Given the description of an element on the screen output the (x, y) to click on. 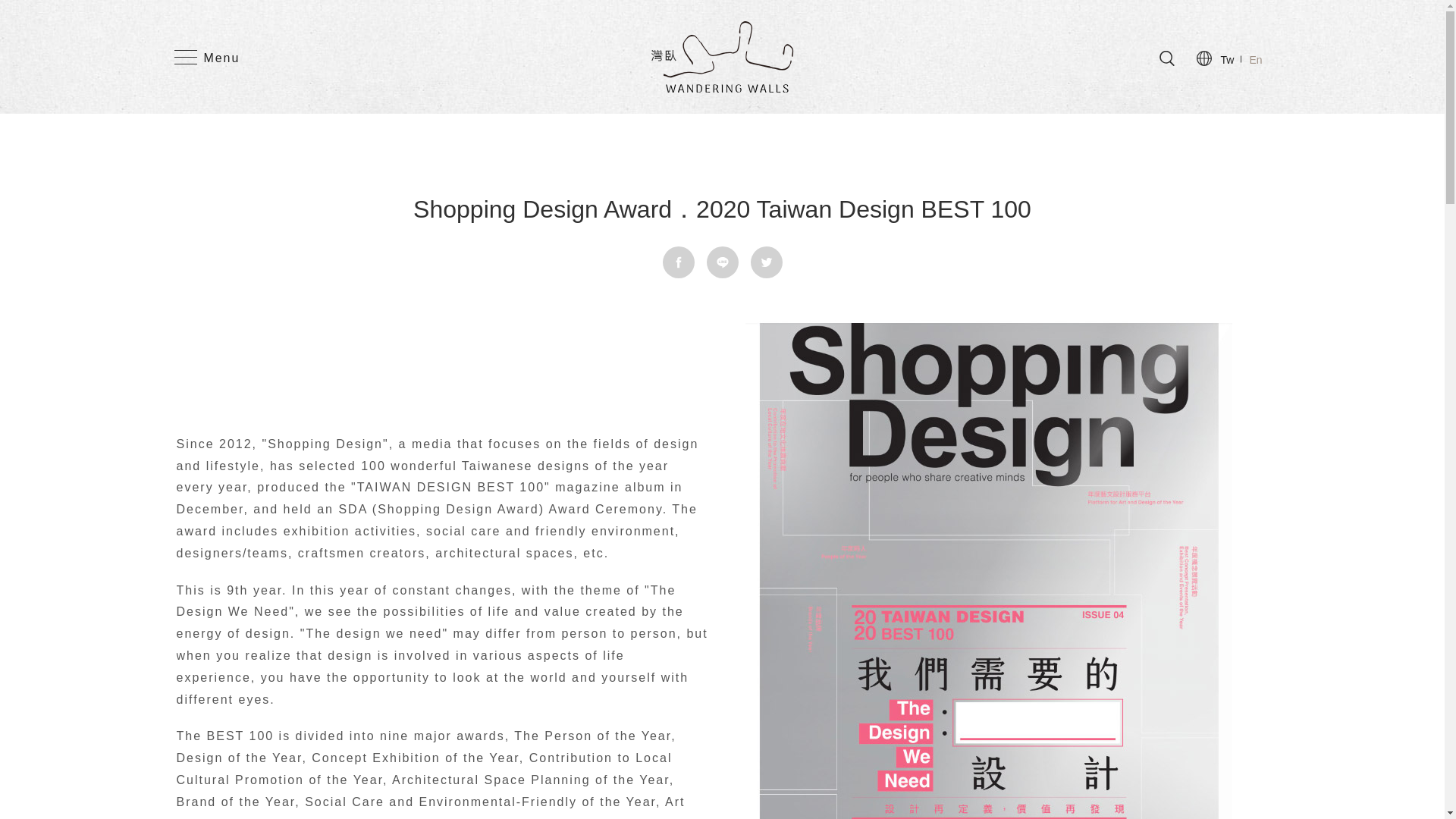
Menu (207, 44)
LINE (722, 262)
facebook (678, 262)
twitter (767, 262)
Menu (207, 44)
Tw (1226, 59)
Tw (1226, 59)
Wandering Walls (721, 56)
En (1255, 59)
En (1255, 59)
